Given the description of an element on the screen output the (x, y) to click on. 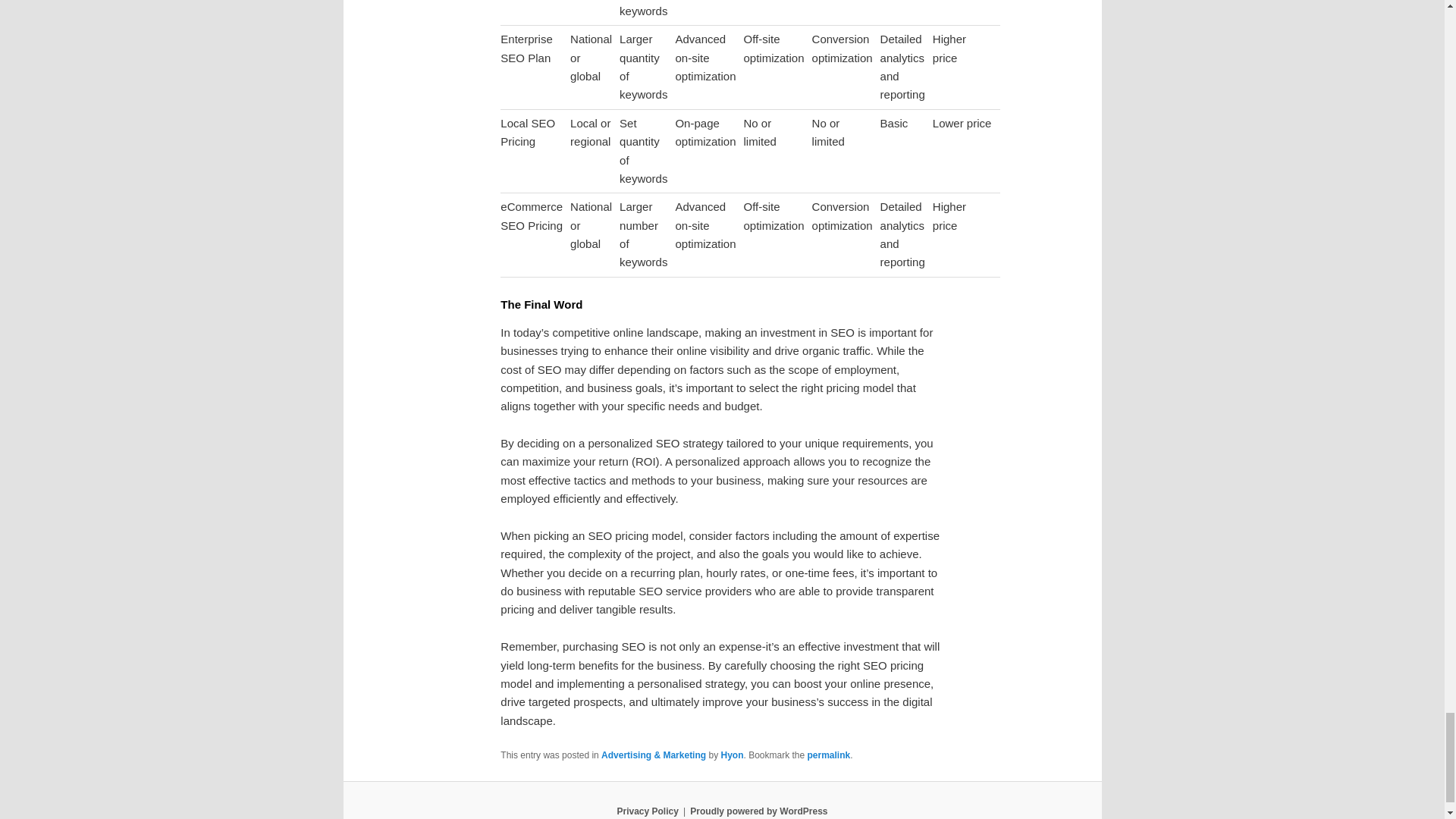
permalink (829, 755)
Permalink to SEO Agency Innovation: Shaping the Future (829, 755)
Semantic Personal Publishing Platform (758, 810)
Proudly powered by WordPress (758, 810)
Hyon (731, 755)
Privacy Policy (646, 810)
